Given the description of an element on the screen output the (x, y) to click on. 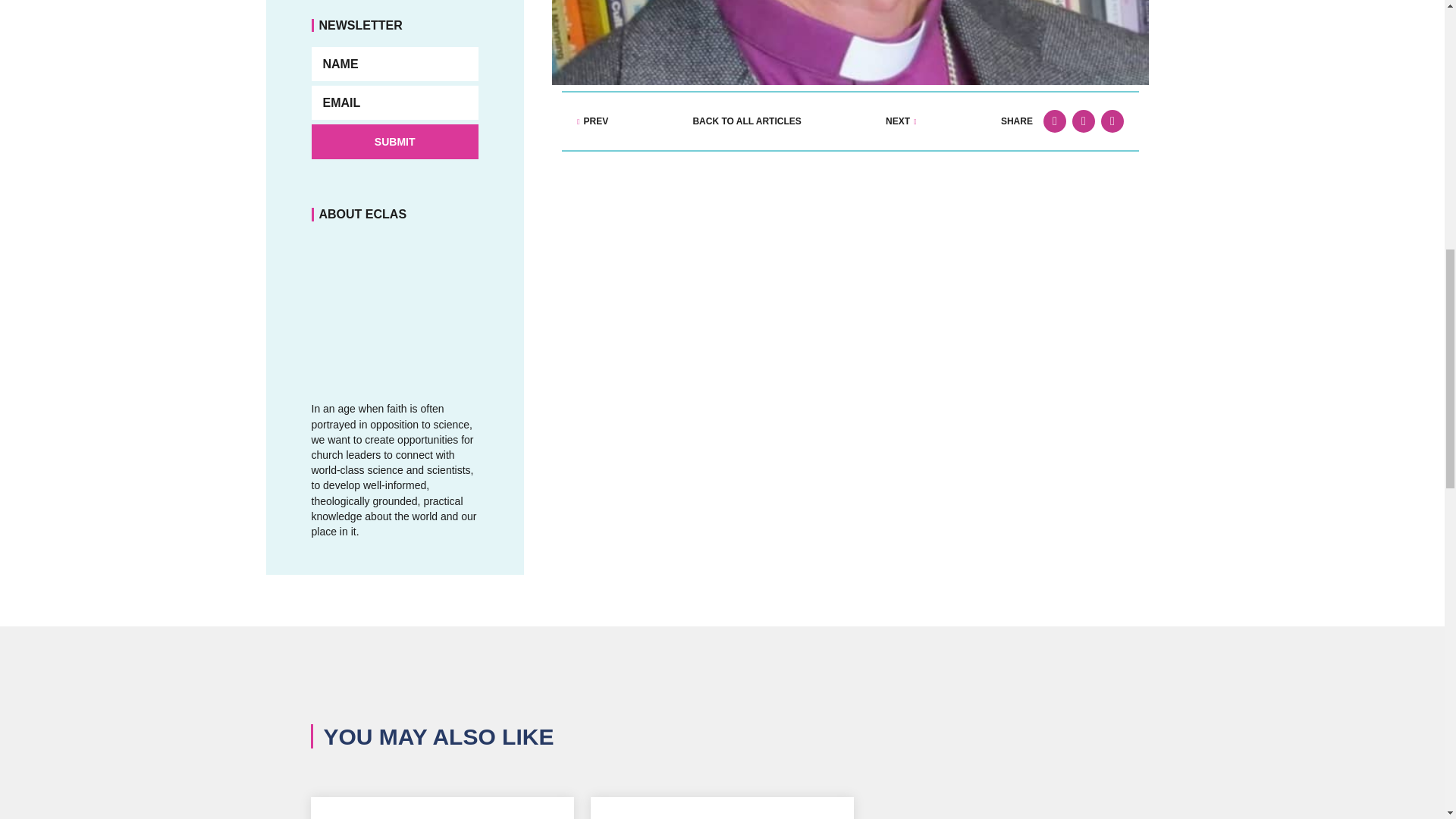
SUBMIT (394, 141)
